Given the description of an element on the screen output the (x, y) to click on. 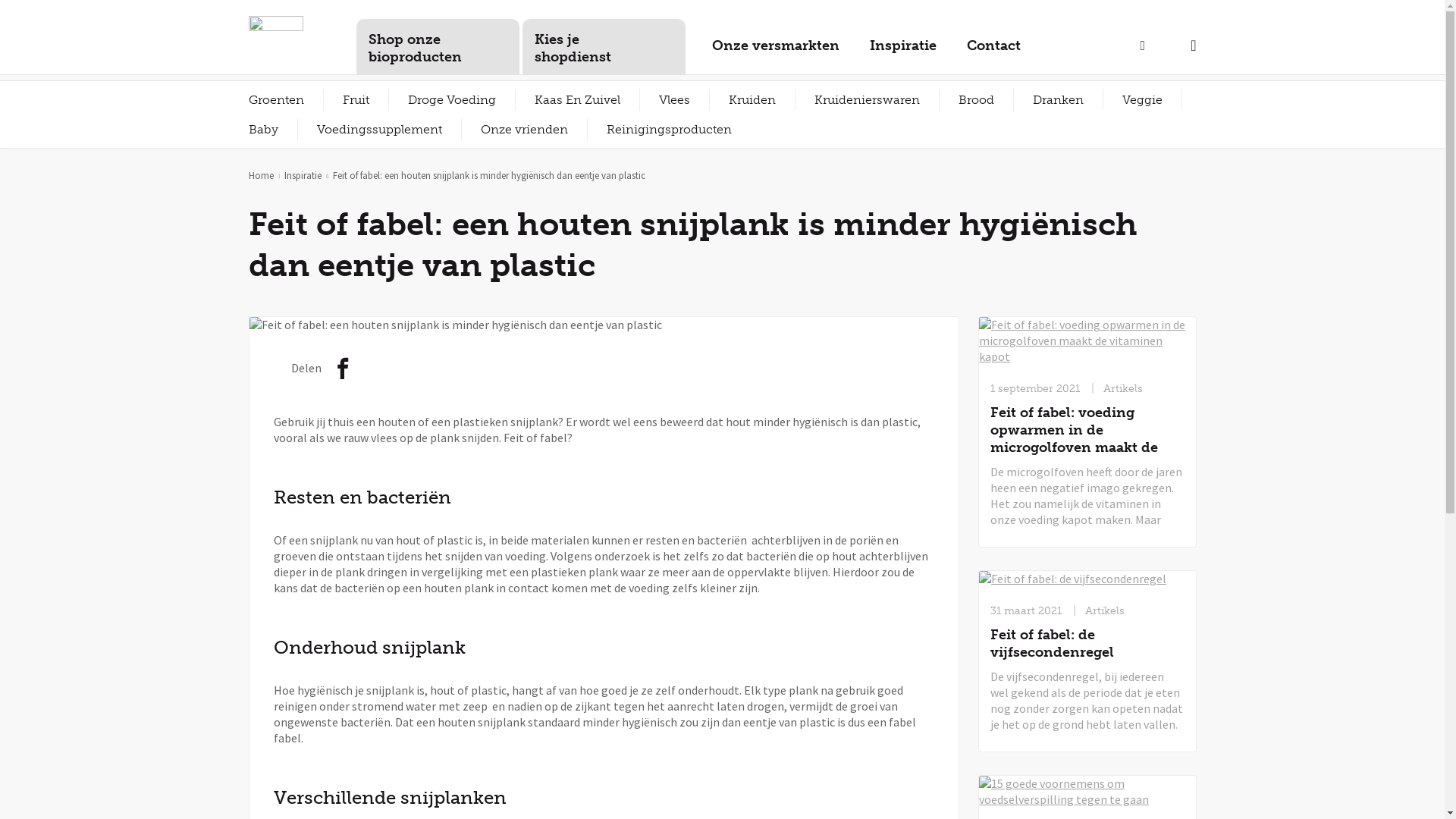
Veggie Element type: text (1141, 99)
Droge Voeding Element type: text (451, 99)
Kies je shopdienst Element type: text (602, 46)
Dranken Element type: text (1057, 99)
Feit of fabel: de vijfsecondenregel Element type: text (1087, 643)
Reinigingsproducten Element type: text (667, 129)
Groenten Element type: text (275, 99)
Kruiden Element type: text (751, 99)
Inspiratie Element type: text (302, 175)
Home Element type: text (260, 175)
15 goede voornemens om voedselverspilling tegen te gaan Element type: hover (1087, 791)
Contact Element type: text (992, 51)
Kaas En Zuivel Element type: text (577, 99)
Baby Element type: text (262, 129)
Onze versmarkten Element type: text (774, 51)
Voedingssupplement Element type: text (378, 129)
Kruidenierswaren Element type: text (866, 99)
Vlees Element type: text (674, 99)
Inspiratie Element type: text (902, 51)
Shop onze bioproducten Element type: text (437, 46)
Fruit Element type: text (355, 99)
Feit of fabel: de vijfsecondenregel Element type: hover (1087, 578)
Brood Element type: text (975, 99)
Facebook Element type: hover (343, 370)
Onze vrienden Element type: text (523, 129)
